Given the description of an element on the screen output the (x, y) to click on. 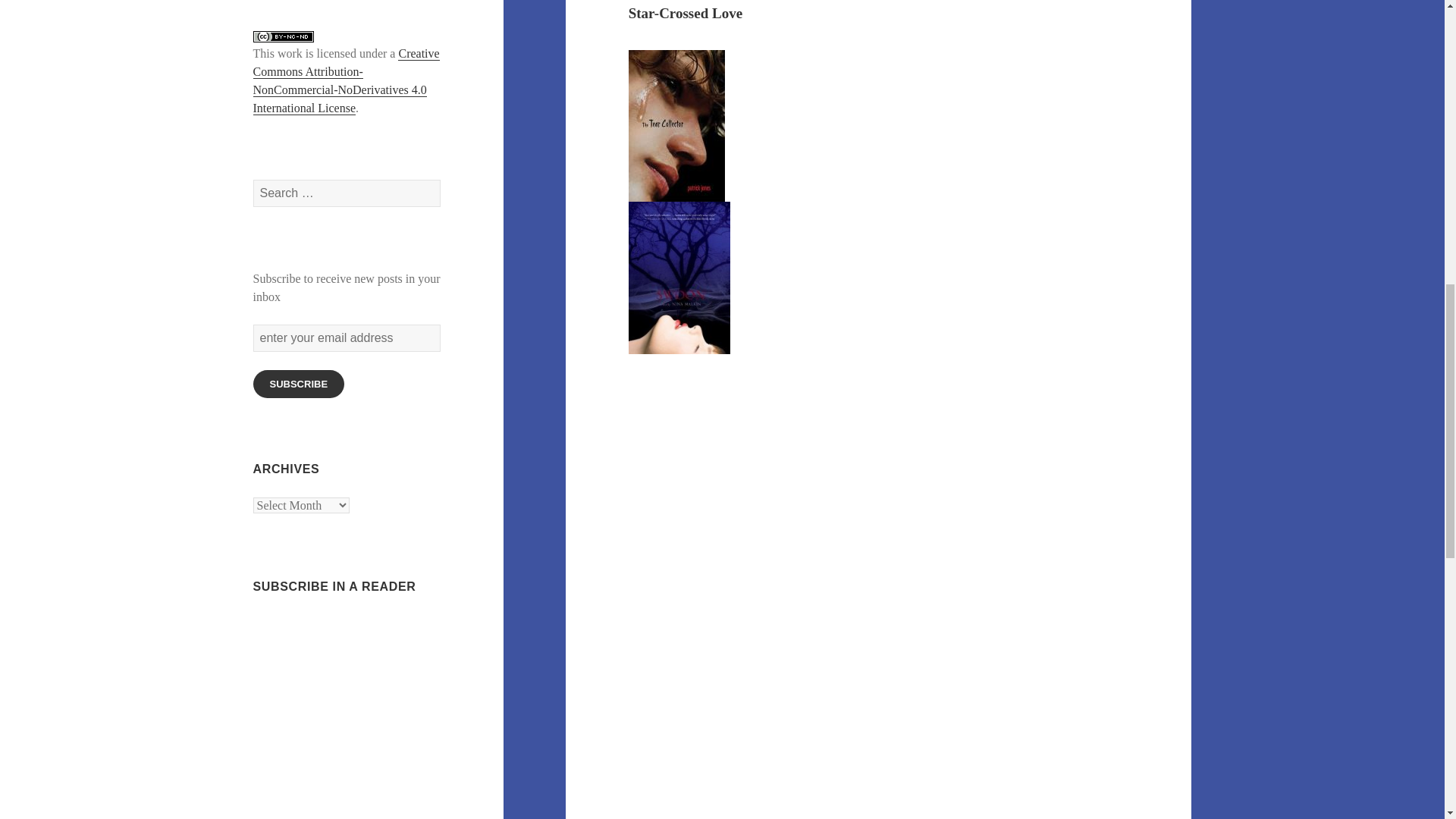
SUBSCRIBE (299, 384)
